Given the description of an element on the screen output the (x, y) to click on. 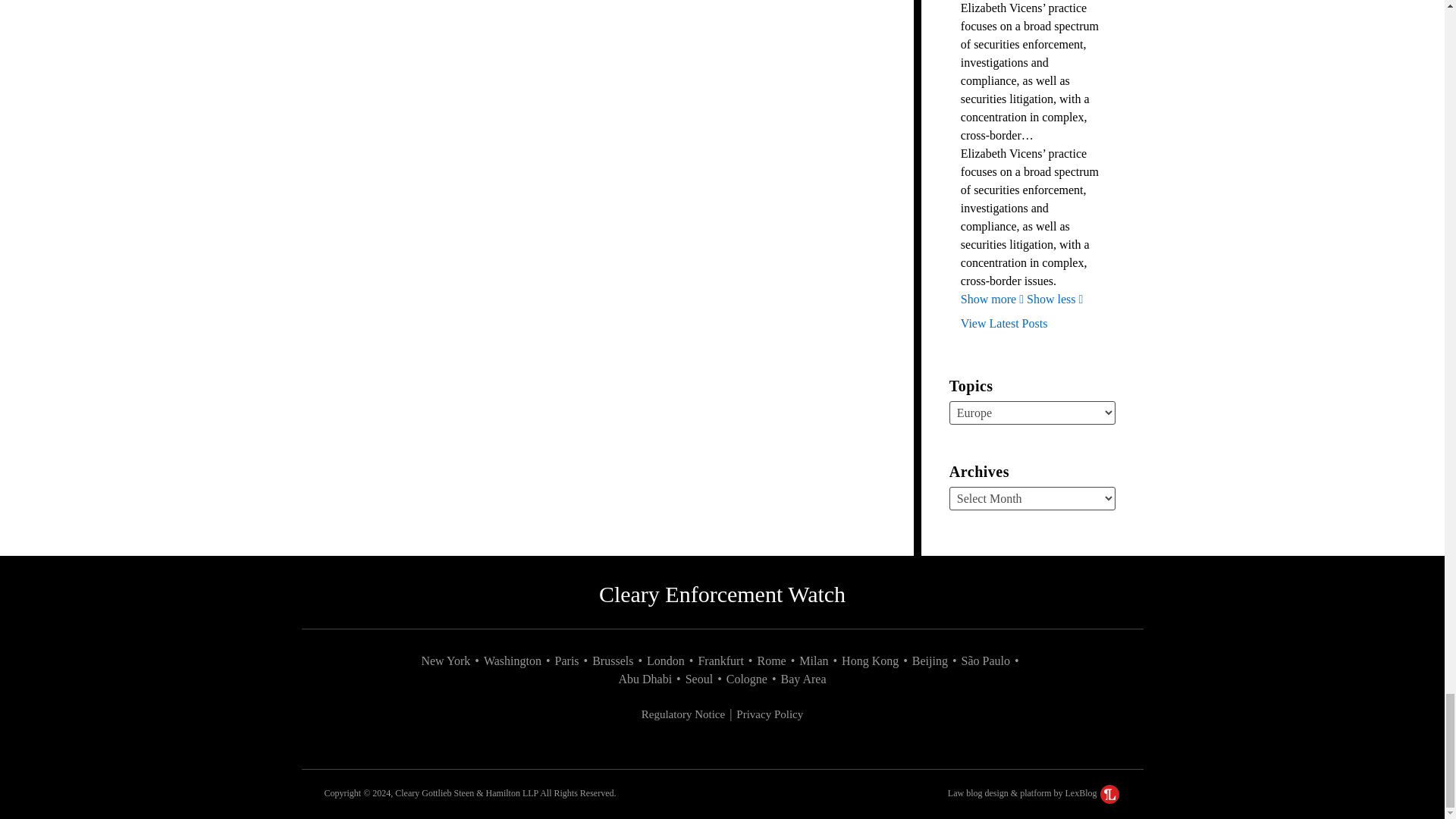
LexBlog Logo (1109, 793)
